Given the description of an element on the screen output the (x, y) to click on. 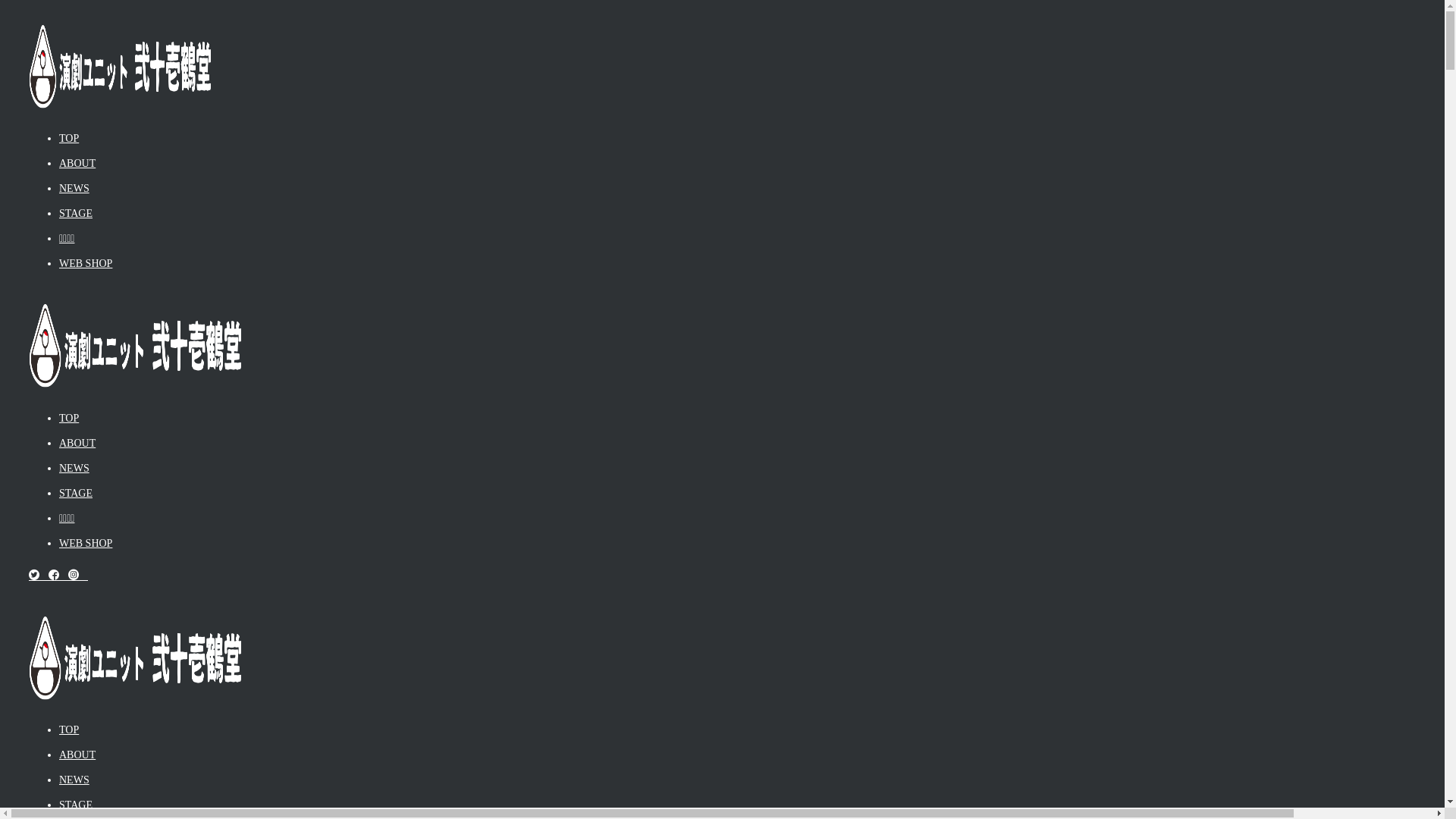
STAGE Element type: text (75, 213)
NEWS Element type: text (74, 467)
WEB SHOP Element type: text (85, 263)
STAGE Element type: text (75, 492)
ABOUT Element type: text (77, 163)
WEB SHOP Element type: text (85, 542)
ABOUT Element type: text (77, 754)
NEWS Element type: text (74, 779)
TOP Element type: text (68, 138)
TOP Element type: text (68, 417)
ABOUT Element type: text (77, 442)
STAGE Element type: text (75, 804)
TOP Element type: text (68, 729)
NEWS Element type: text (74, 188)
